Given the description of an element on the screen output the (x, y) to click on. 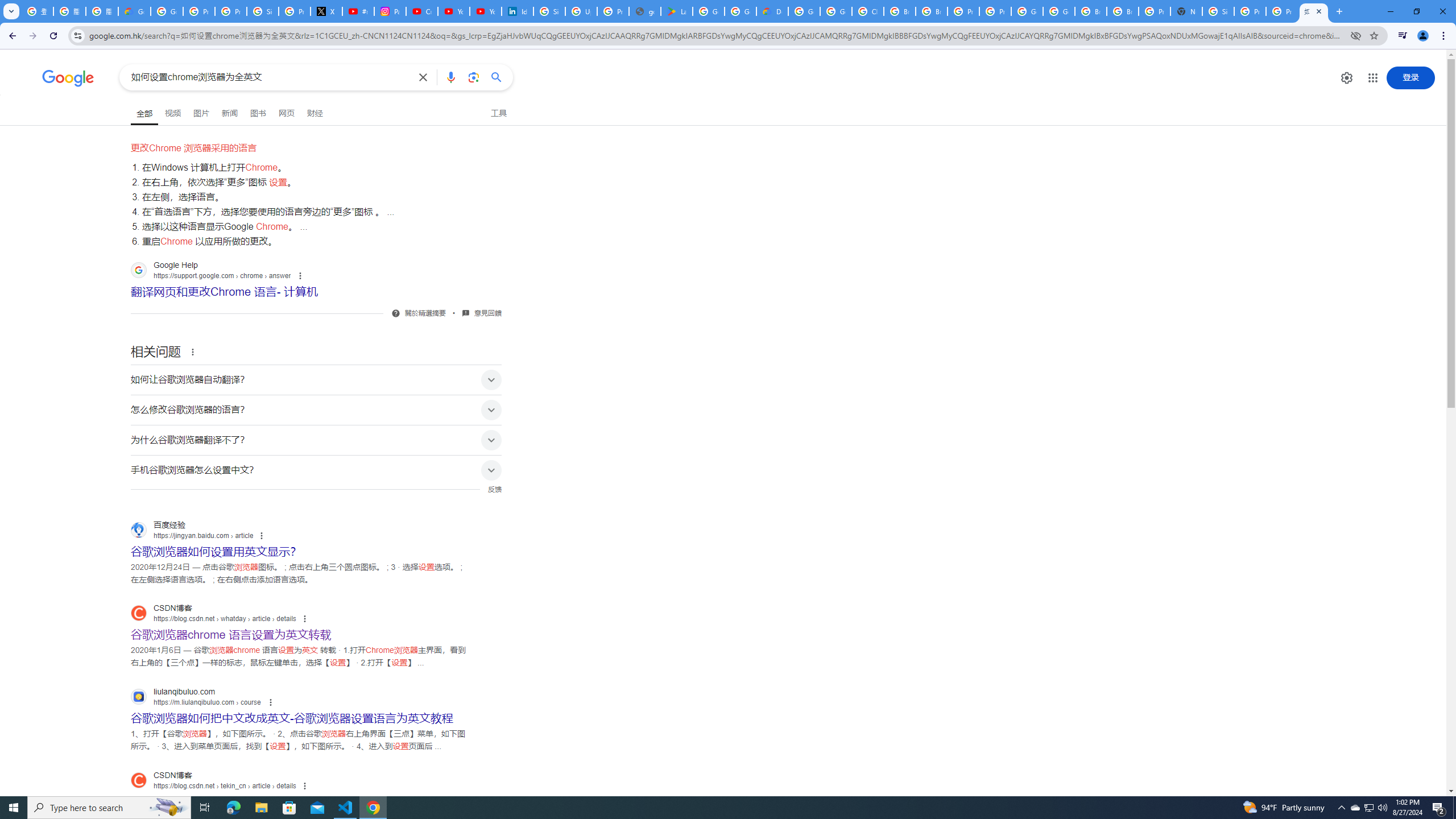
Sign in - Google Accounts (549, 11)
Last Shelter: Survival - Apps on Google Play (676, 11)
Google Cloud Platform (804, 11)
